Given the description of an element on the screen output the (x, y) to click on. 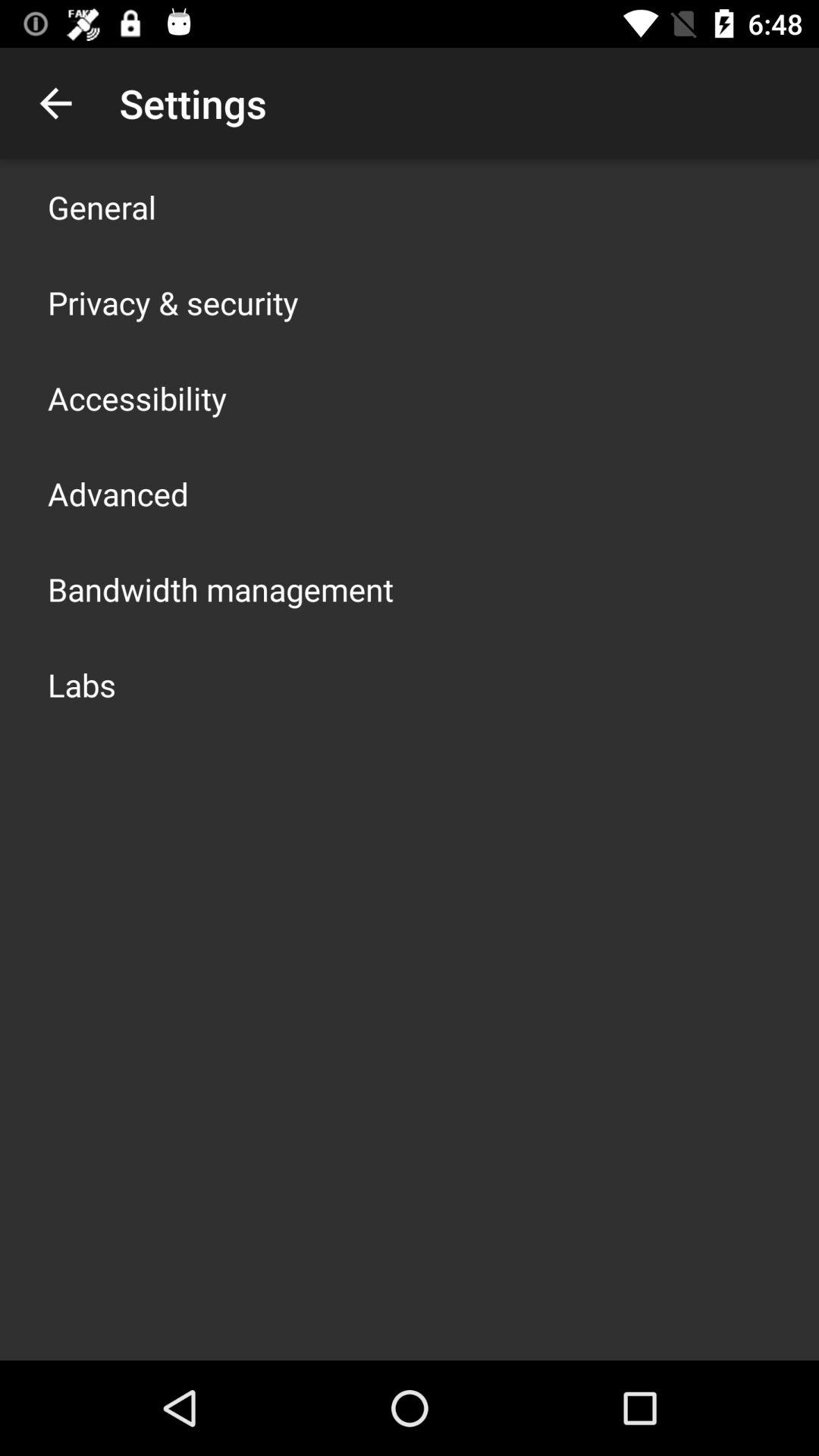
flip until general app (101, 206)
